Given the description of an element on the screen output the (x, y) to click on. 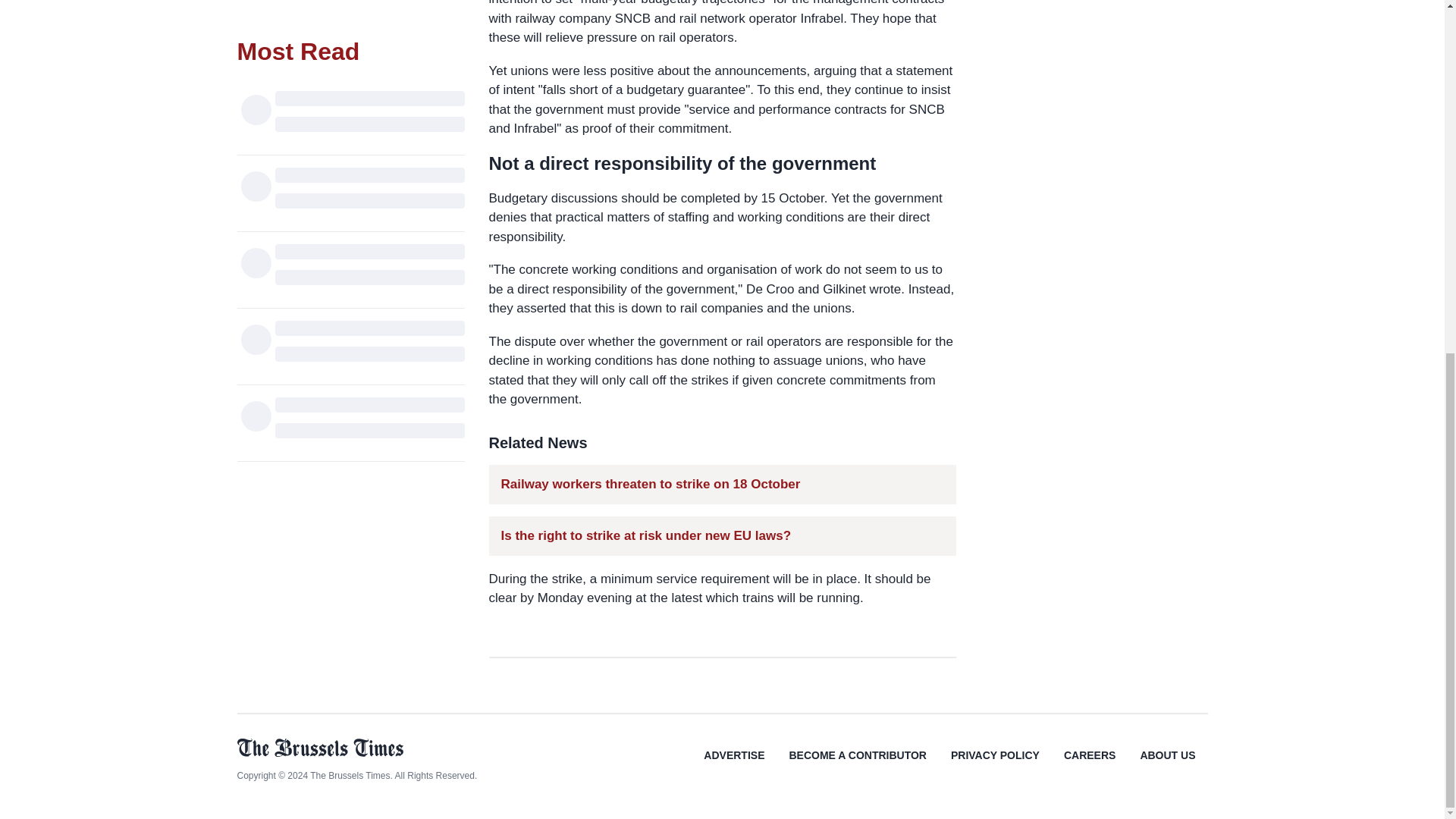
PRIVACY POLICY (995, 766)
ADVERTISE (733, 766)
ABOUT US (1166, 766)
Railway workers threaten to strike on 18 October (649, 484)
CAREERS (1088, 766)
BECOME A CONTRIBUTOR (856, 766)
Is the right to strike at risk under new EU laws? (645, 535)
